Given the description of an element on the screen output the (x, y) to click on. 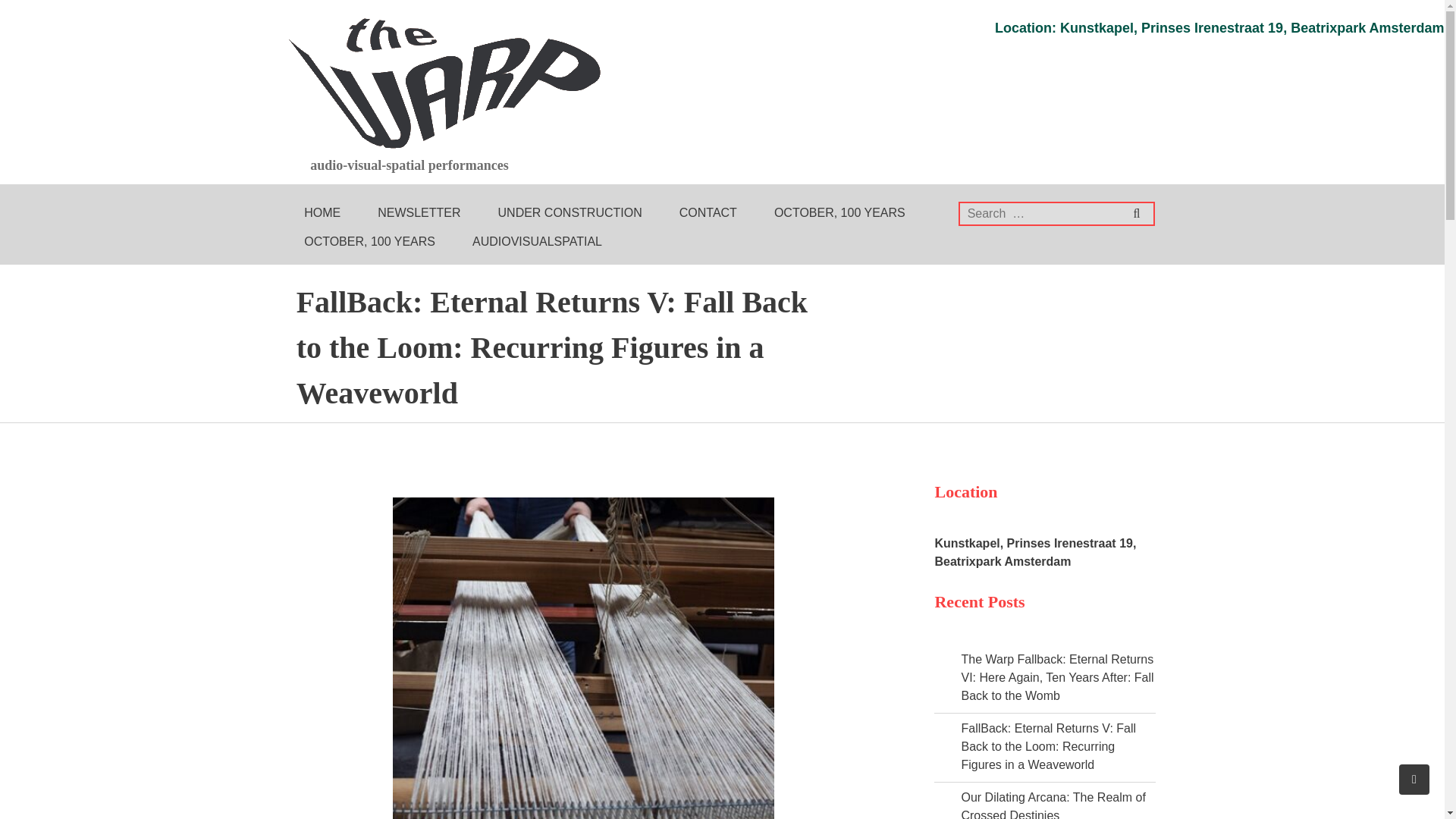
AUDIOVISUALSPATIAL (536, 241)
NEWSLETTER (419, 213)
Our Dilating Arcana: The Realm of Crossed Destinies (1052, 805)
CONTACT (708, 213)
OCTOBER, 100 YEARS (368, 241)
UNDER CONSTRUCTION (570, 213)
Subscribe (1397, 12)
OCTOBER, 100 YEARS (839, 213)
HOME (321, 213)
